Given the description of an element on the screen output the (x, y) to click on. 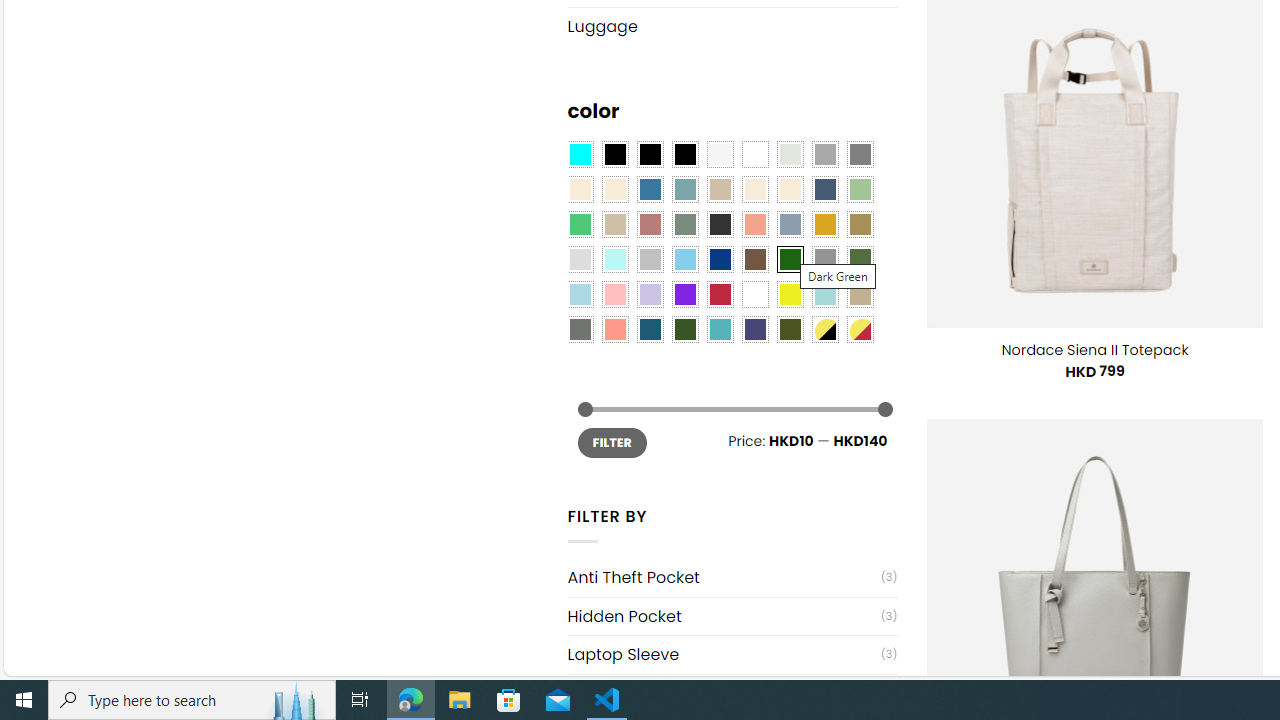
Light Purple (650, 295)
Black-Brown (684, 154)
Yellow-Red (859, 329)
Caramel (755, 190)
Aqua Blue (579, 154)
Anti Theft Pocket(3) (732, 577)
Sage (684, 224)
Ash Gray (789, 154)
USB Charging Port(3) (732, 692)
Luggage (732, 26)
Hale Navy (824, 190)
Light Gray (579, 259)
Light Taupe (614, 224)
Pearly White (719, 154)
Purple Navy (755, 329)
